Given the description of an element on the screen output the (x, y) to click on. 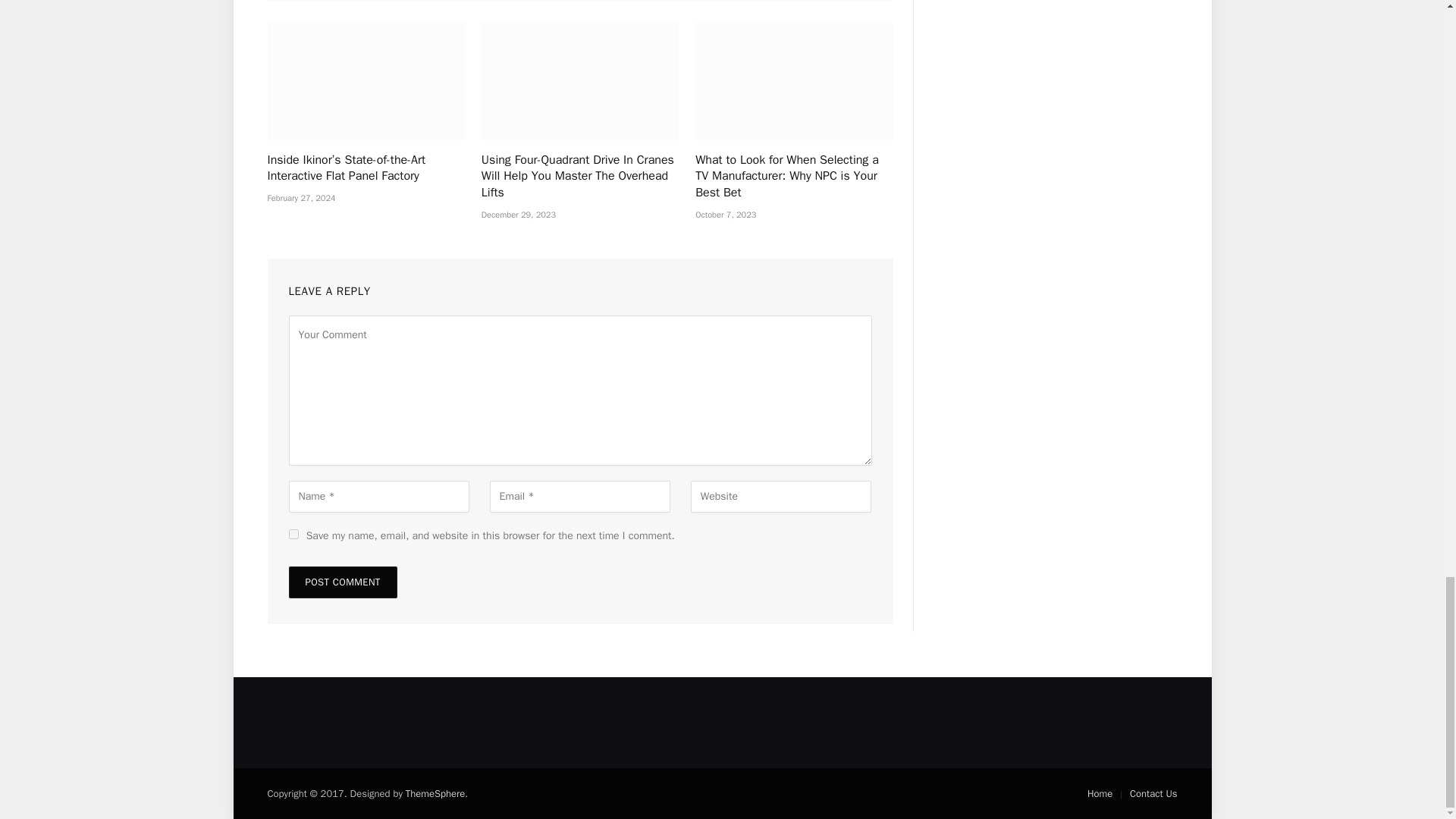
Post Comment (342, 582)
yes (293, 533)
